Given the description of an element on the screen output the (x, y) to click on. 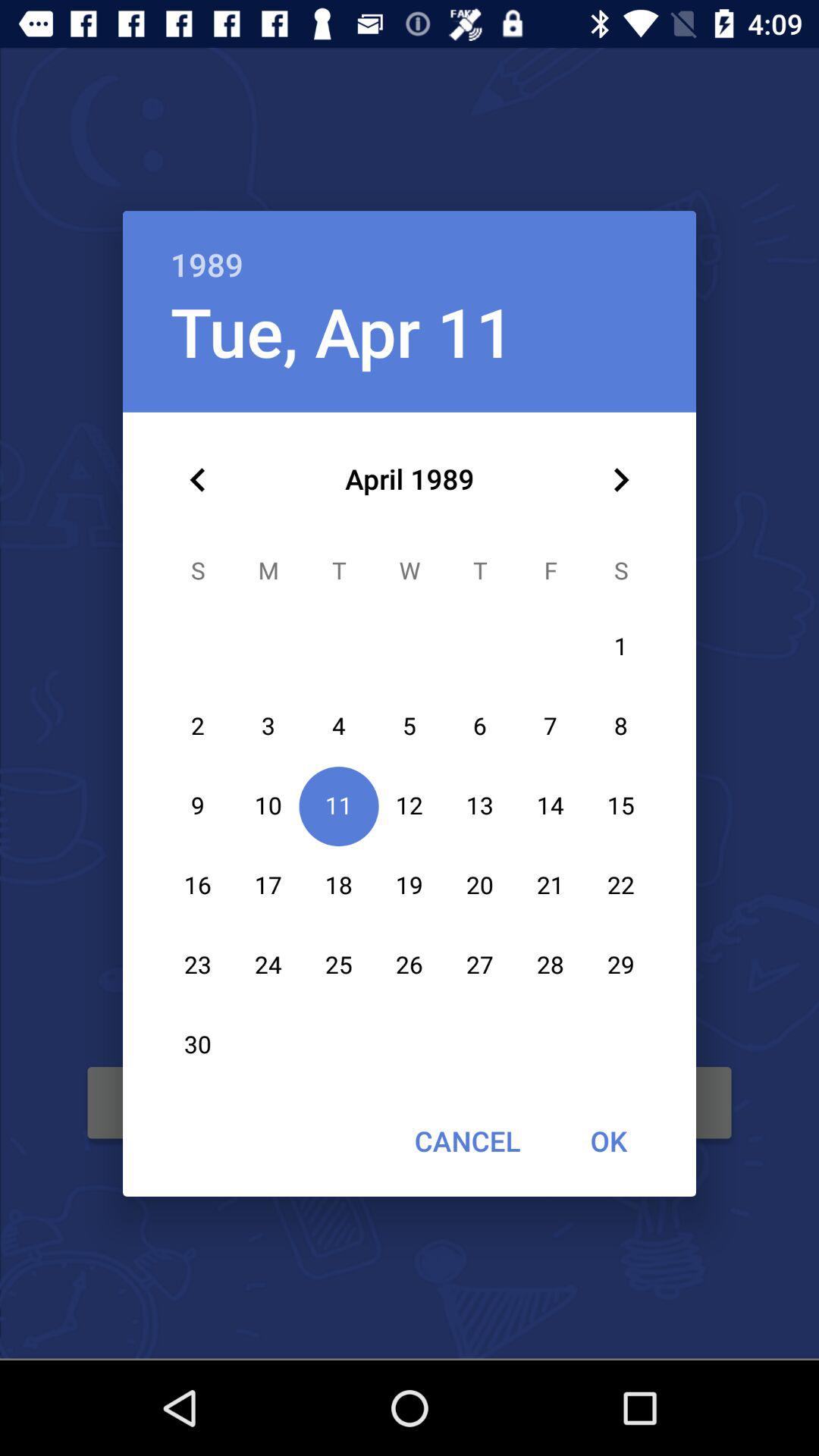
click the item above tue, apr 11 (409, 248)
